Given the description of an element on the screen output the (x, y) to click on. 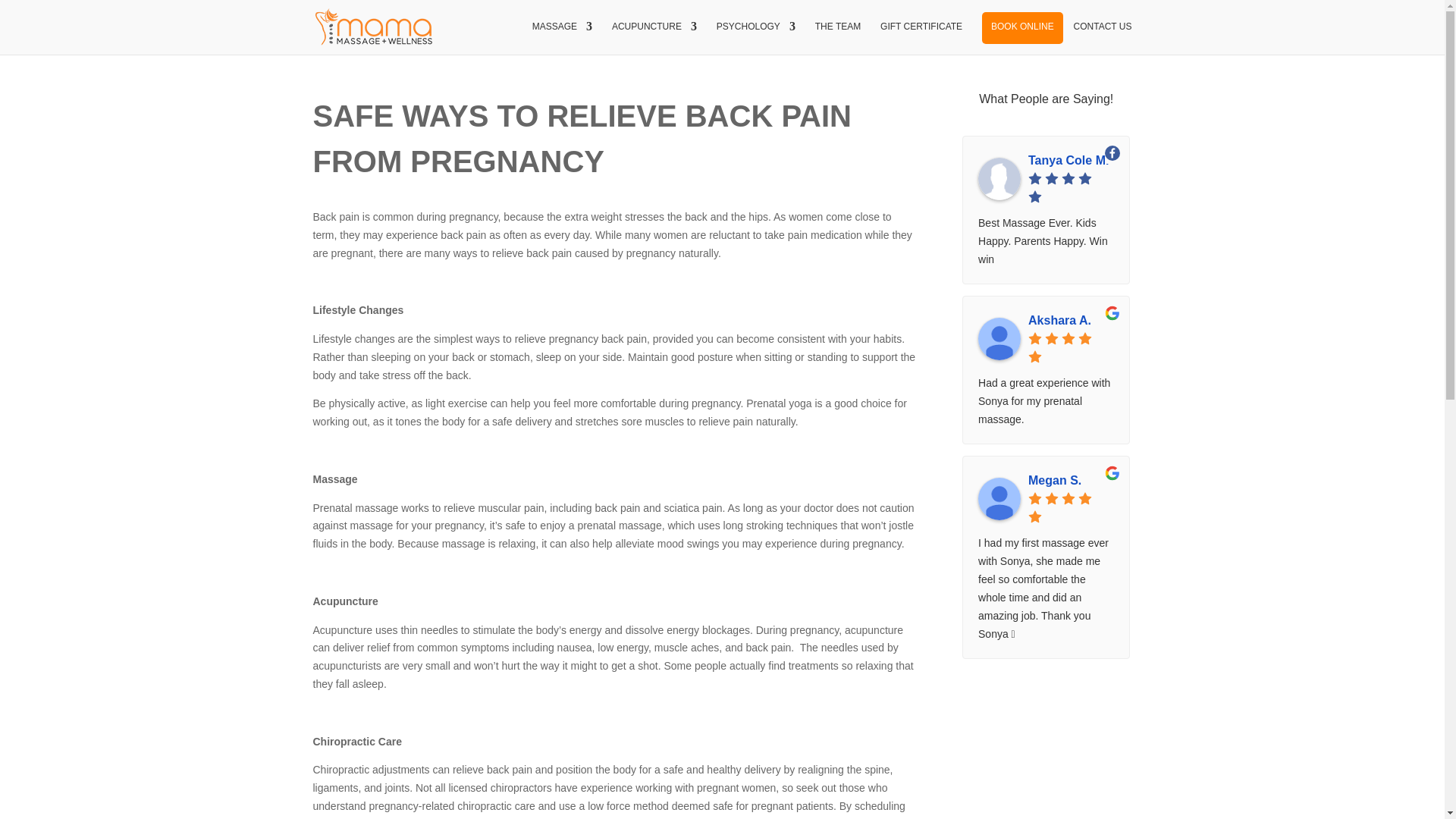
BOOK ONLINE (1022, 37)
Akshara A. (1070, 321)
Tanya Cole M. (1070, 160)
PSYCHOLOGY (755, 37)
Megan S. (1070, 480)
ACUPUNCTURE (654, 37)
Tanya Cole M. (999, 178)
GIFT CERTIFICATE (921, 37)
THE TEAM (837, 37)
Megan S. (999, 498)
